Given the description of an element on the screen output the (x, y) to click on. 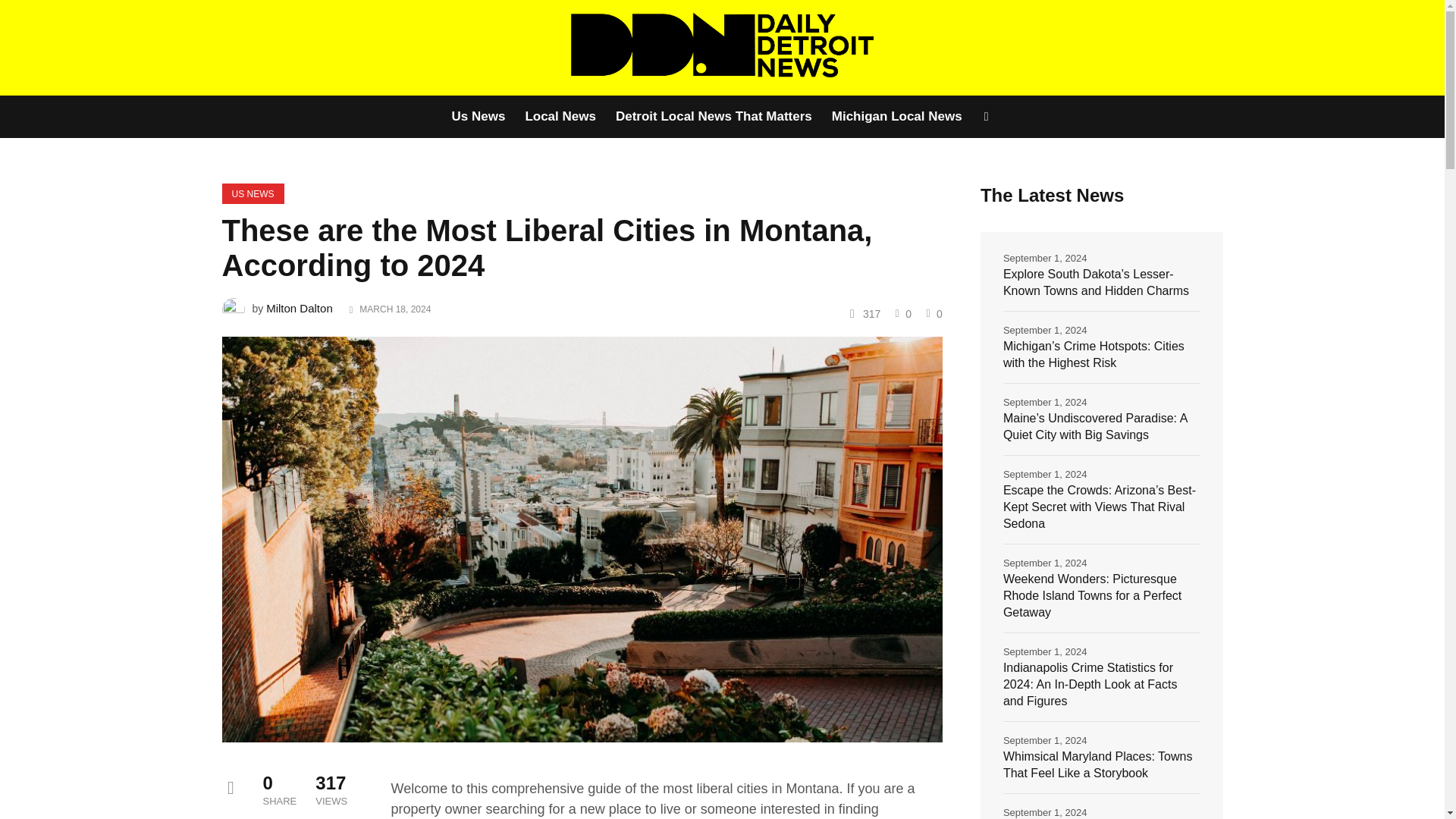
Posts by Milton Dalton (299, 308)
0 (932, 313)
Us News (482, 116)
Michigan Local News (897, 116)
0 (901, 313)
March 18, 2024 (394, 309)
Milton Dalton (299, 308)
Detroit Local News That Matters (713, 116)
